Given the description of an element on the screen output the (x, y) to click on. 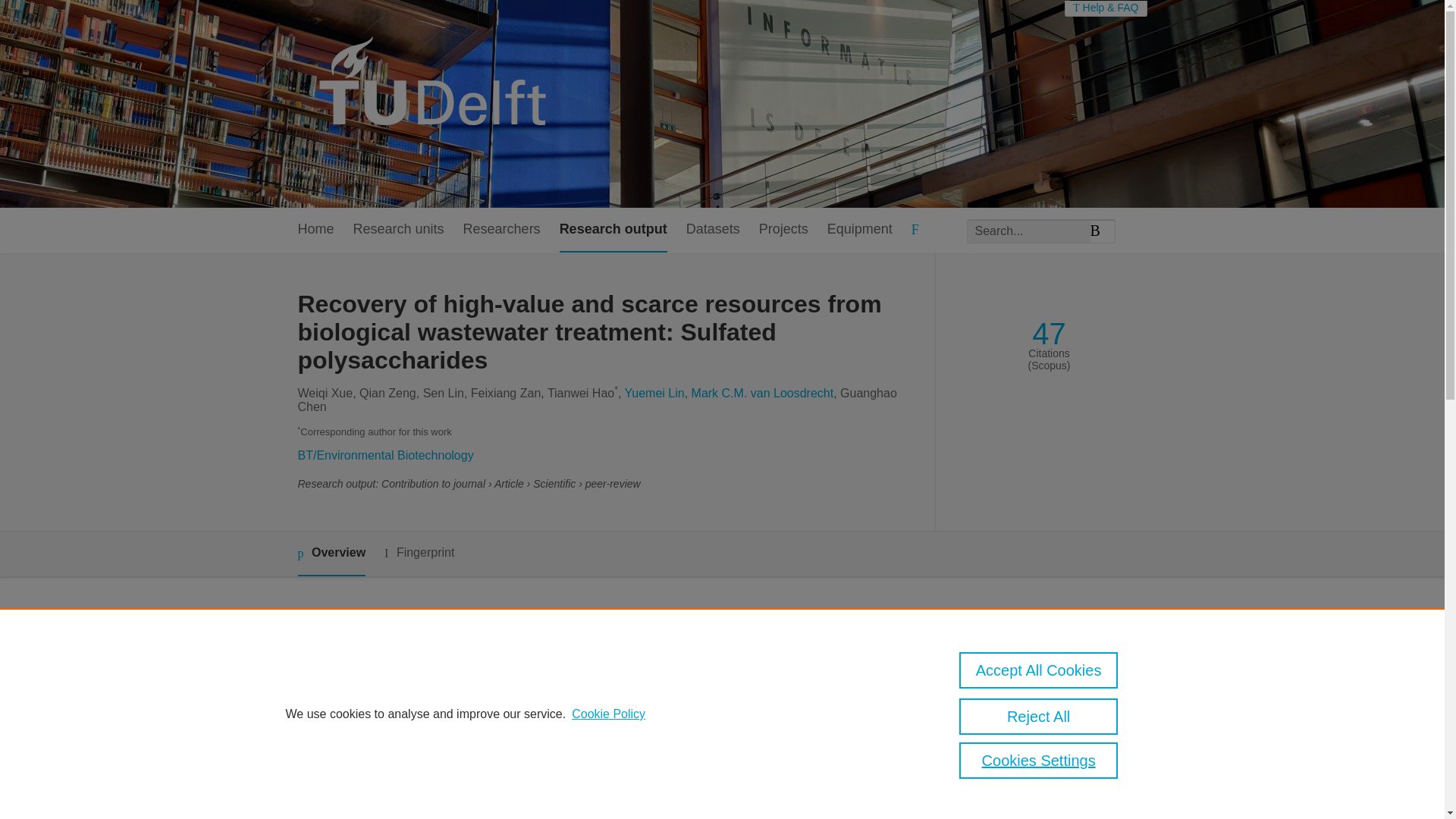
Overview (331, 553)
Yuemei Lin (654, 392)
Equipment (859, 230)
Researchers (501, 230)
47 (1048, 334)
Research output (612, 230)
Research units (398, 230)
Datasets (712, 230)
TU Delft Research Portal Home (438, 103)
